Given the description of an element on the screen output the (x, y) to click on. 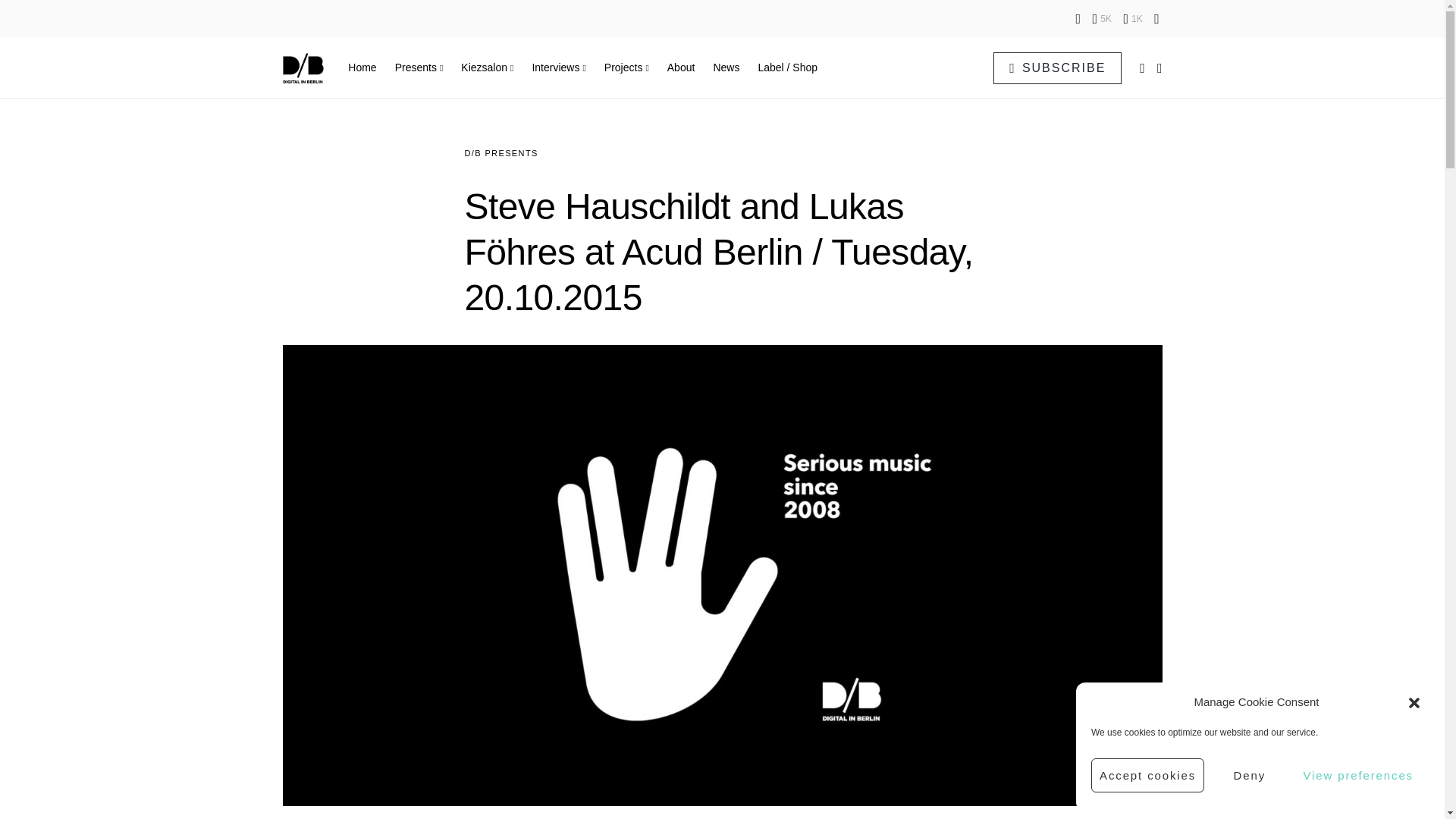
Accept cookies (1147, 775)
Deny (1249, 775)
View preferences (1358, 775)
